Given the description of an element on the screen output the (x, y) to click on. 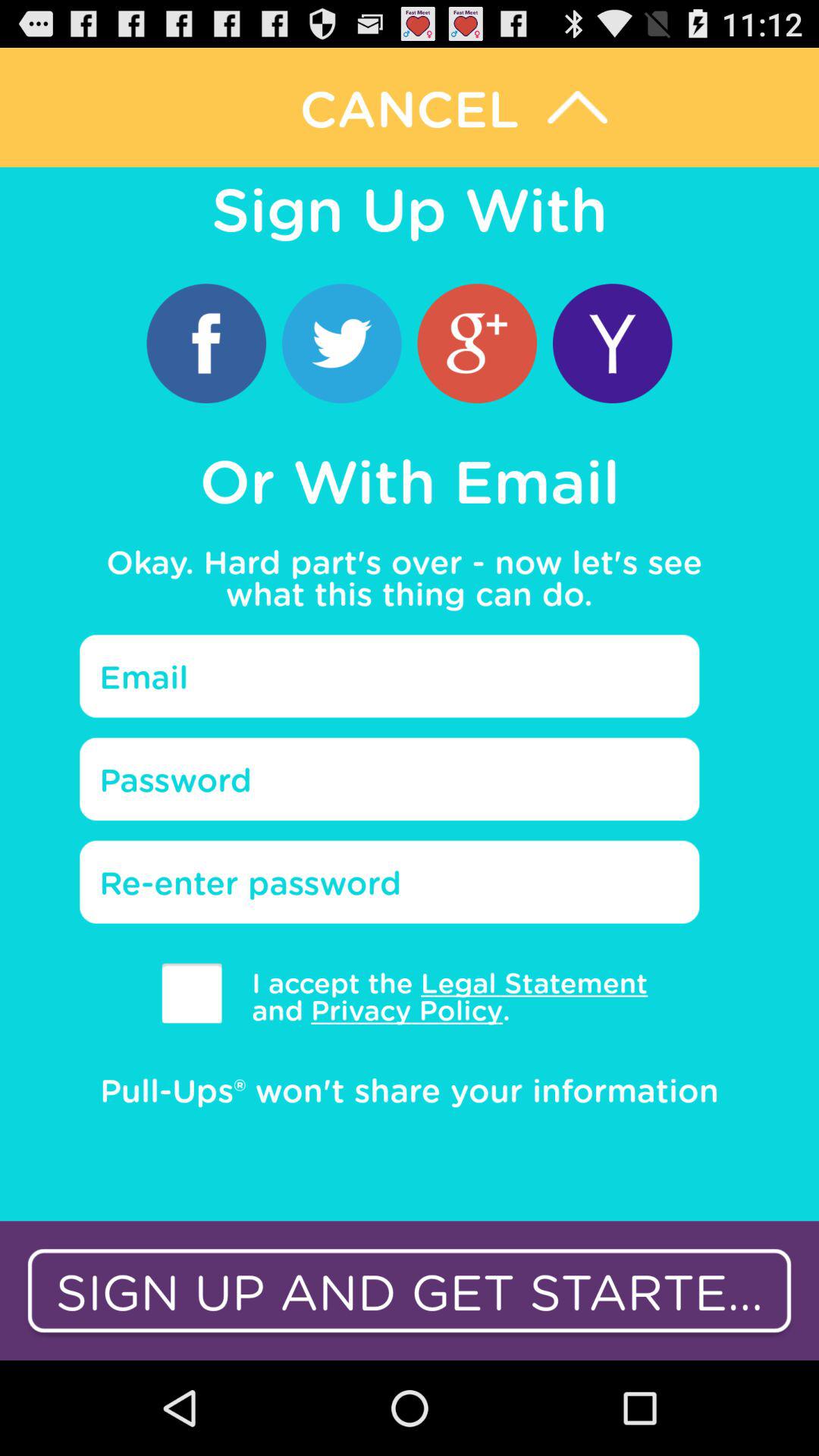
sign up with yahoo (612, 343)
